Given the description of an element on the screen output the (x, y) to click on. 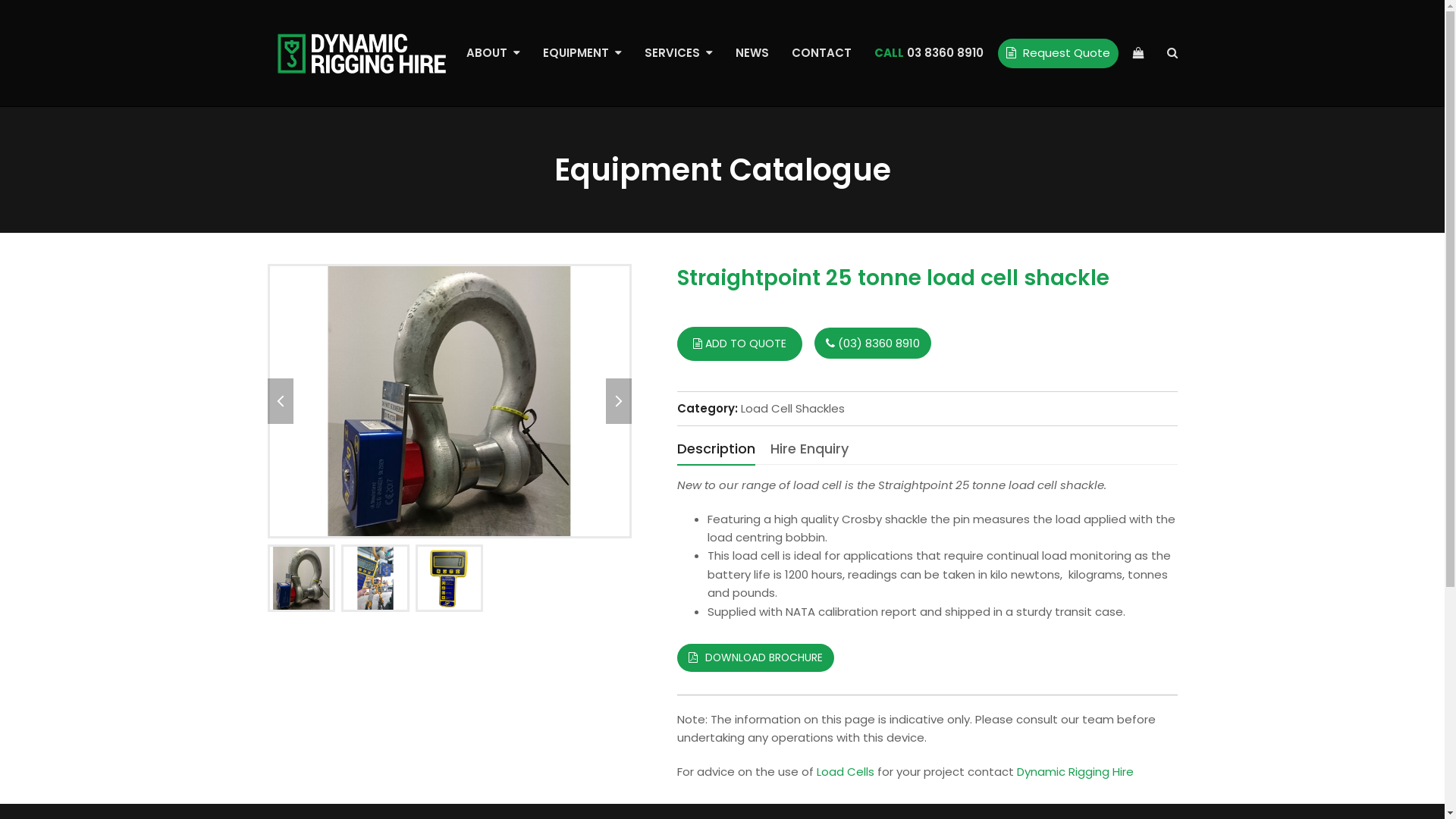
NEWS Element type: text (751, 53)
Load Cells Element type: text (844, 771)
next slide Element type: text (617, 400)
ADD TO QUOTE Element type: text (738, 343)
ABOUT Element type: text (493, 53)
Request Quote Element type: text (1057, 53)
Load Cell Shackles Element type: text (792, 408)
Description Element type: text (715, 449)
previous slide Element type: text (279, 400)
Submit Element type: text (517, 535)
(03) 8360 8910 Element type: text (872, 342)
Dynamic Rigging Hire Element type: text (1074, 771)
CONTACT Element type: text (820, 53)
Hire Enquiry Element type: text (809, 448)
25t-load-shackle1 Element type: hover (448, 400)
DOWNLOAD BROCHURE Element type: text (755, 657)
CALL 03 8360 8910 Element type: text (928, 53)
EQUIPMENT Element type: text (581, 53)
SERVICES Element type: text (677, 53)
